Given the description of an element on the screen output the (x, y) to click on. 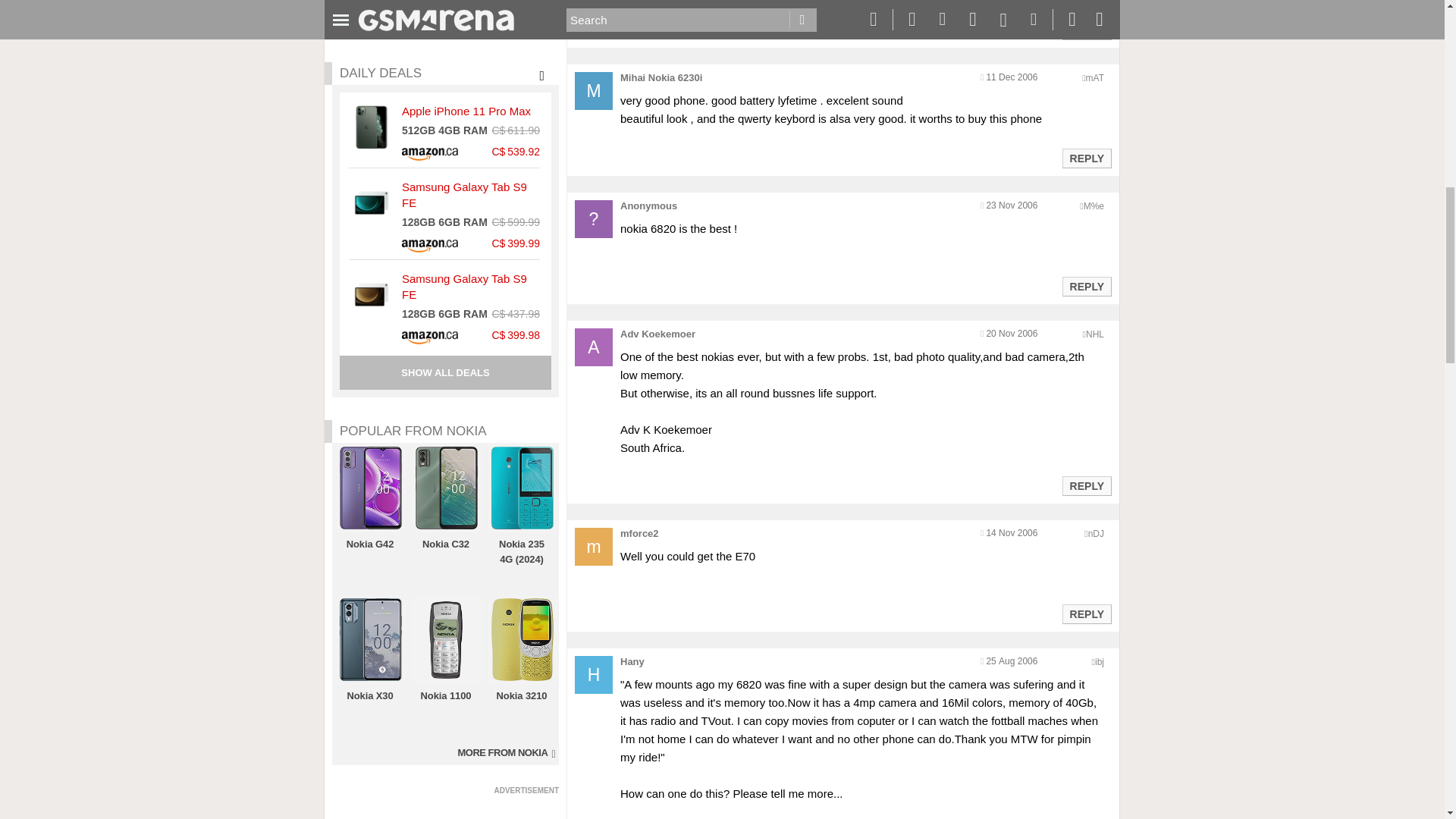
Reply to this post (1086, 485)
Encoded anonymized location (1094, 77)
Encoded anonymized location (1094, 334)
Reply to this post (1086, 286)
Reply to this post (1086, 158)
Reply to this post (1086, 30)
Encoded anonymized location (1093, 205)
Encoded anonymized location (1095, 533)
